Given the description of an element on the screen output the (x, y) to click on. 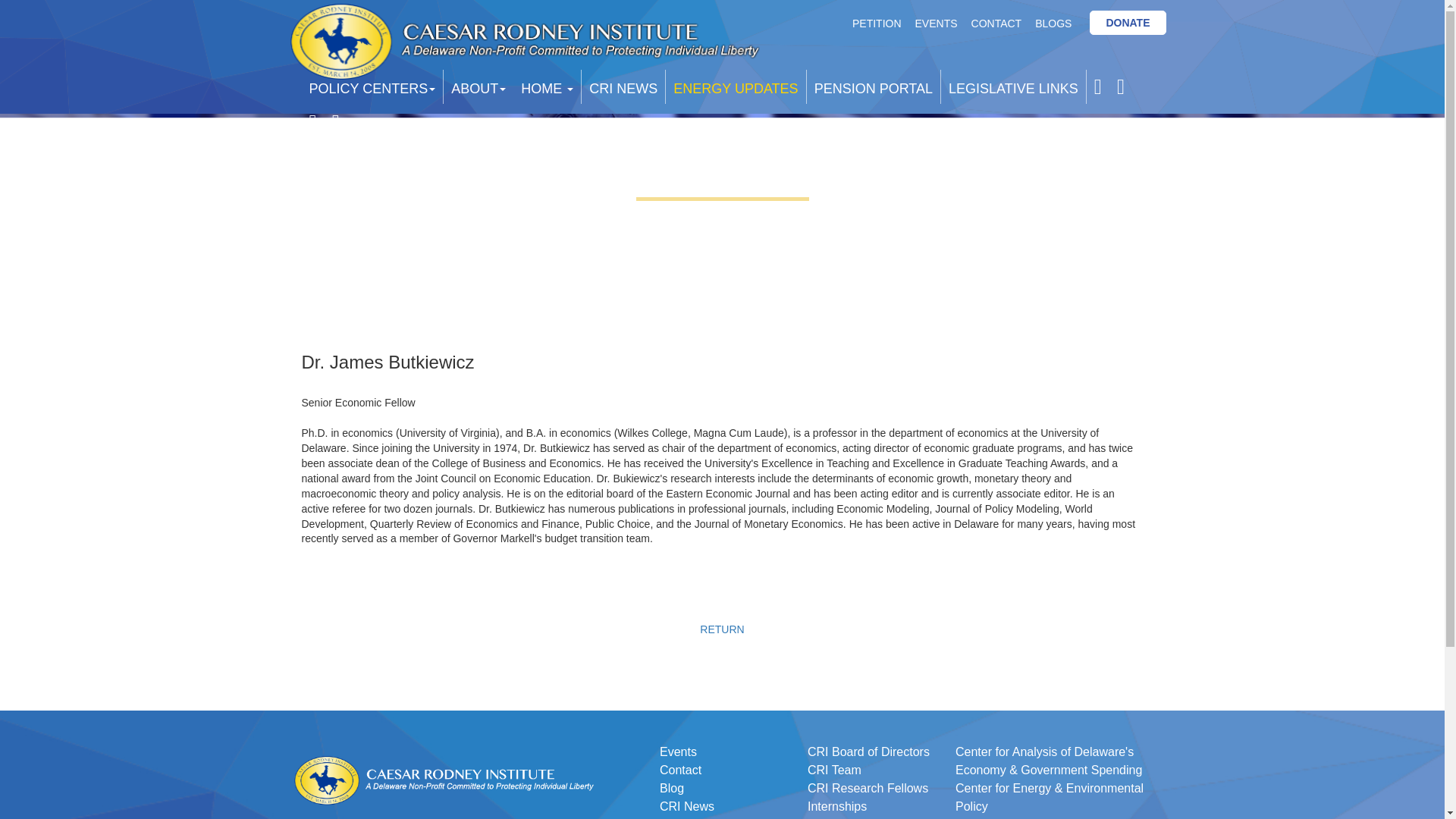
HOME (546, 86)
CRI NEWS (622, 86)
CONTACT (996, 23)
EVENTS (935, 23)
ABOUT (478, 86)
PENSION PORTAL (873, 86)
LEGISLATIVE LINKS (1013, 86)
BLOGS (1052, 23)
ENERGY UPDATES (735, 86)
DONATE (1127, 22)
